Given the description of an element on the screen output the (x, y) to click on. 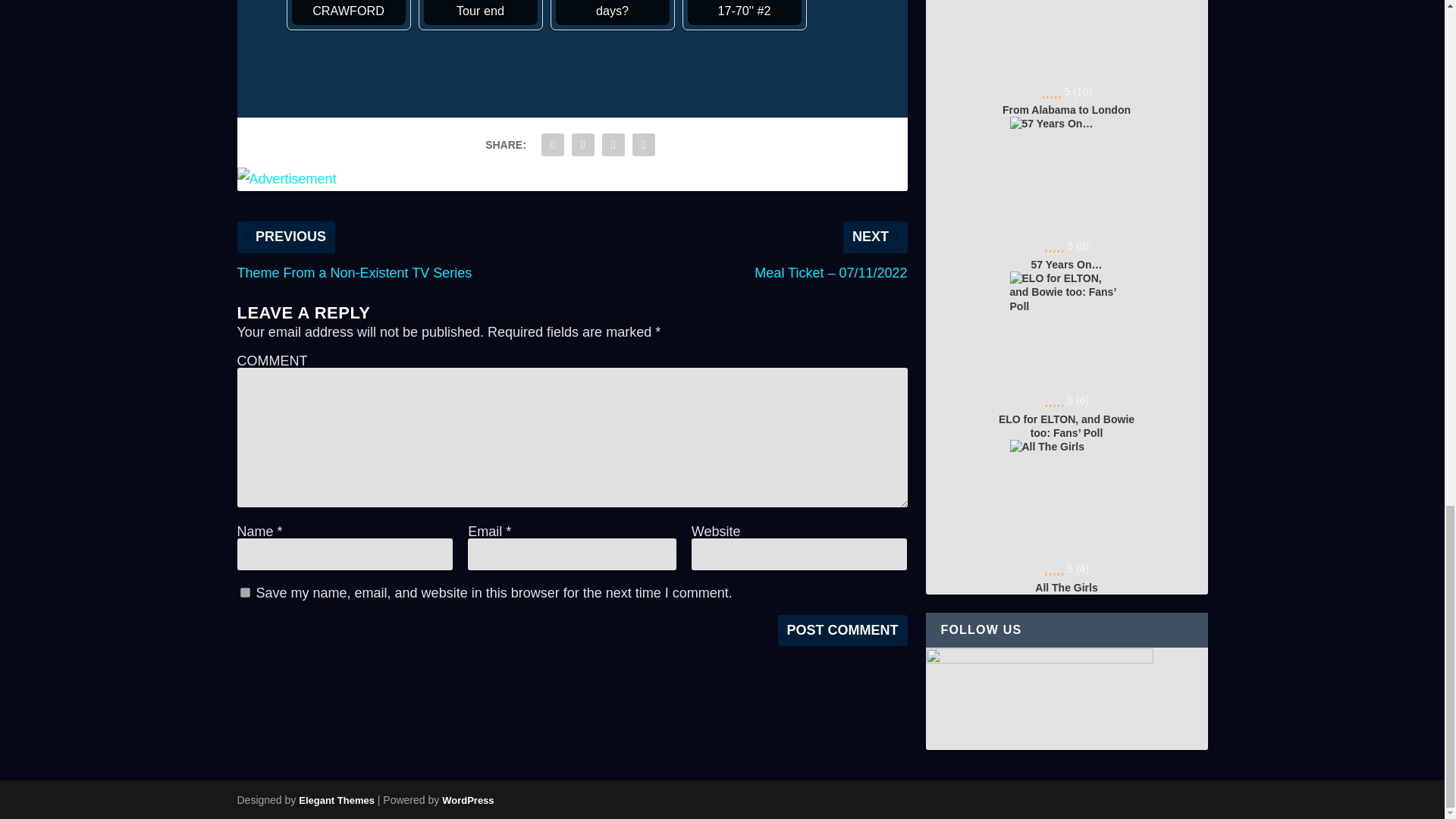
BACKSTAGE: What music is Elton listening to these days? (611, 12)
Fan Roundtable discusses Elton Tour end (480, 12)
BACKSTAGE: What music is Elton listening to these days? (611, 2)
Post Comment (842, 630)
Share "Hearing Gus back to front" via Facebook (552, 144)
yes (244, 592)
Post Comment (842, 630)
